Given the description of an element on the screen output the (x, y) to click on. 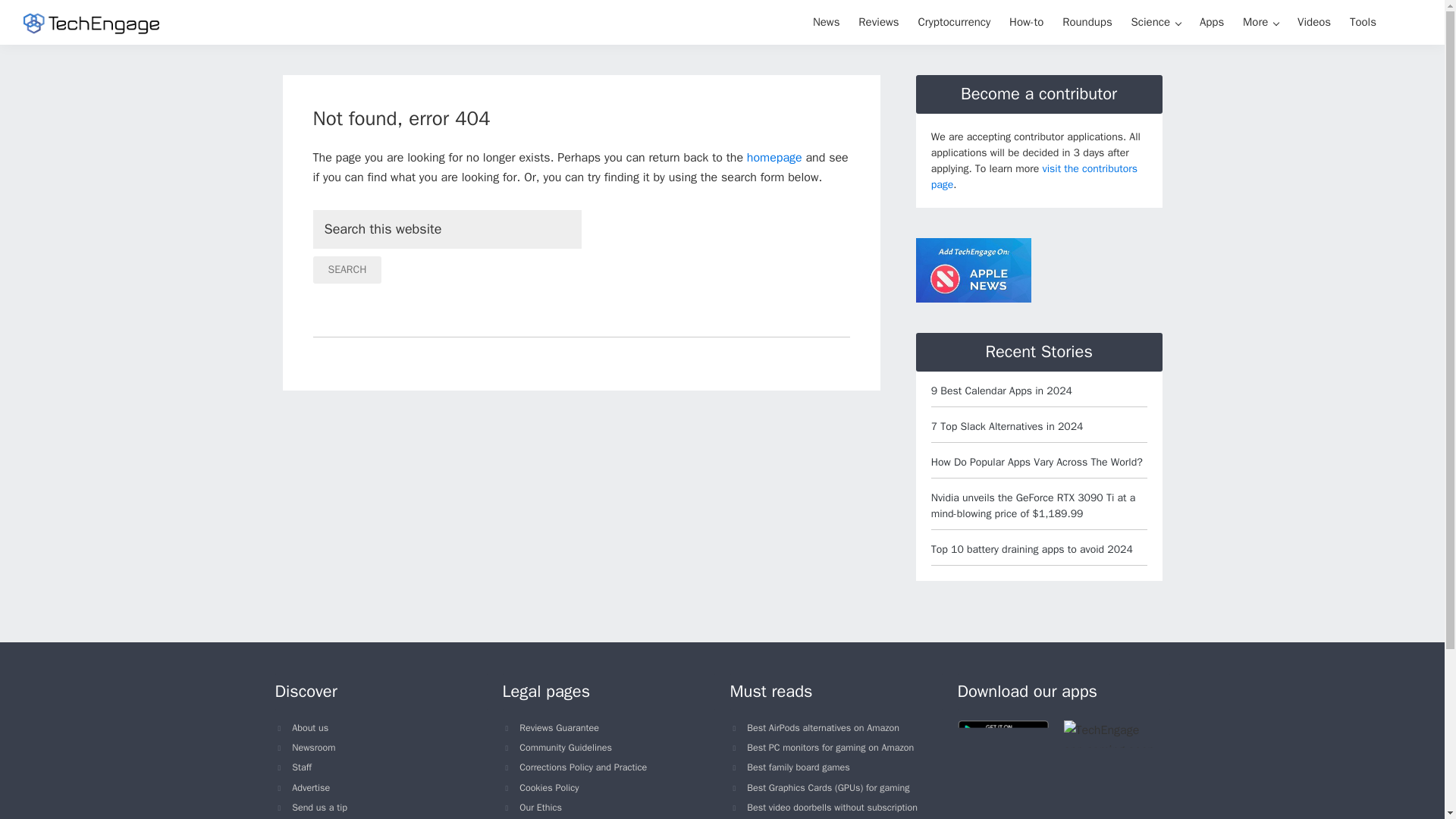
Bitcoin, Cryptocurrency and more (953, 21)
9 Best Calendar Apps in 2024 (1001, 390)
homepage (774, 157)
7 Top Slack Alternatives in 2024 (1007, 426)
Mobile Apps (1211, 21)
Videos (1314, 21)
TechEngage Best of Collections (1086, 21)
How-to (1026, 21)
Search (347, 269)
Top 10 battery draining apps to avoid 2024 (1031, 549)
Tools (1363, 21)
How Do Popular Apps Vary Across The World? (1036, 461)
Reviews (877, 21)
Staff (301, 767)
